Given the description of an element on the screen output the (x, y) to click on. 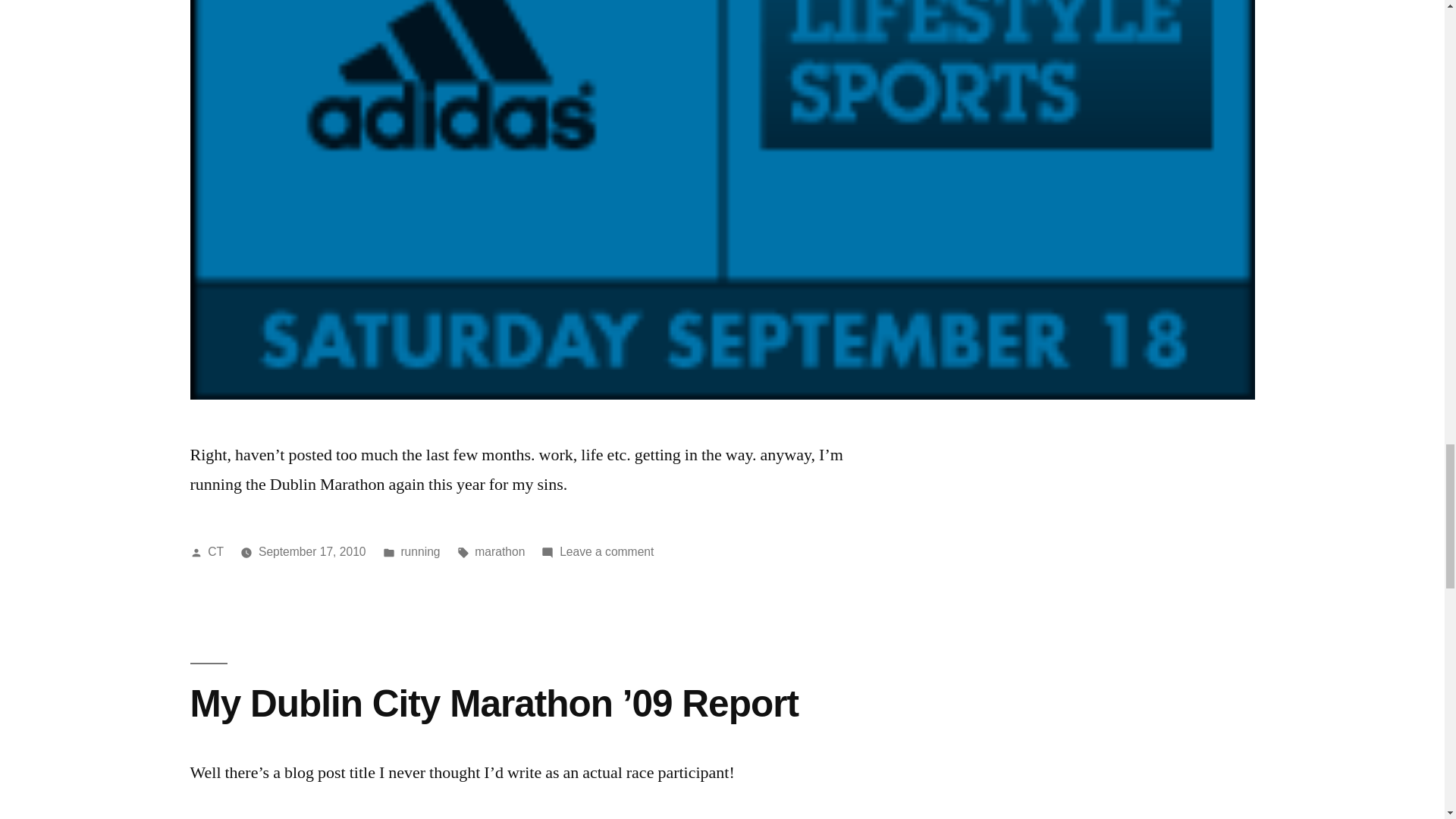
September 17, 2010 (312, 551)
marathon (499, 551)
CT (216, 551)
running (419, 551)
